Given the description of an element on the screen output the (x, y) to click on. 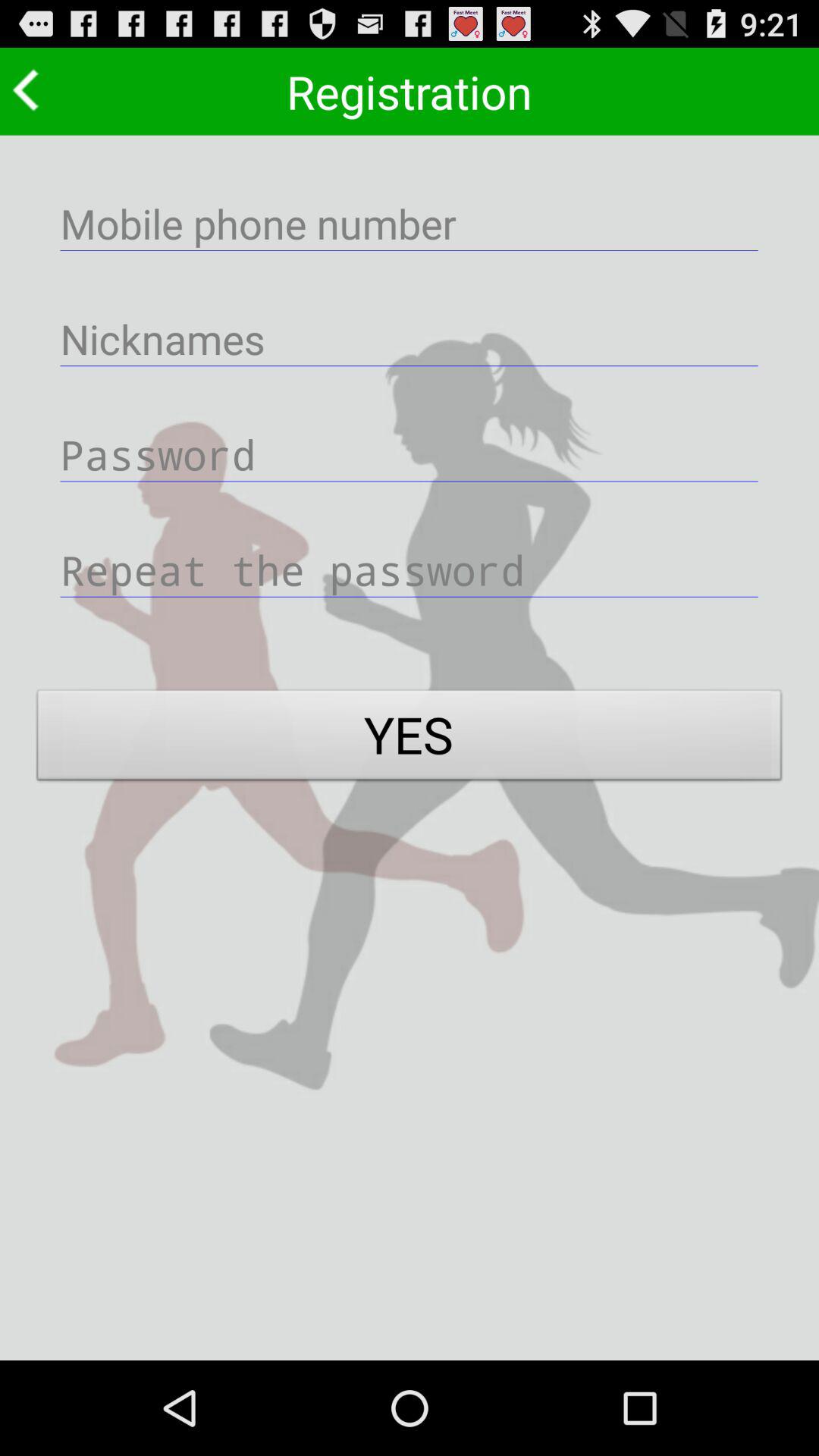
enter mobile phone number (409, 222)
